Given the description of an element on the screen output the (x, y) to click on. 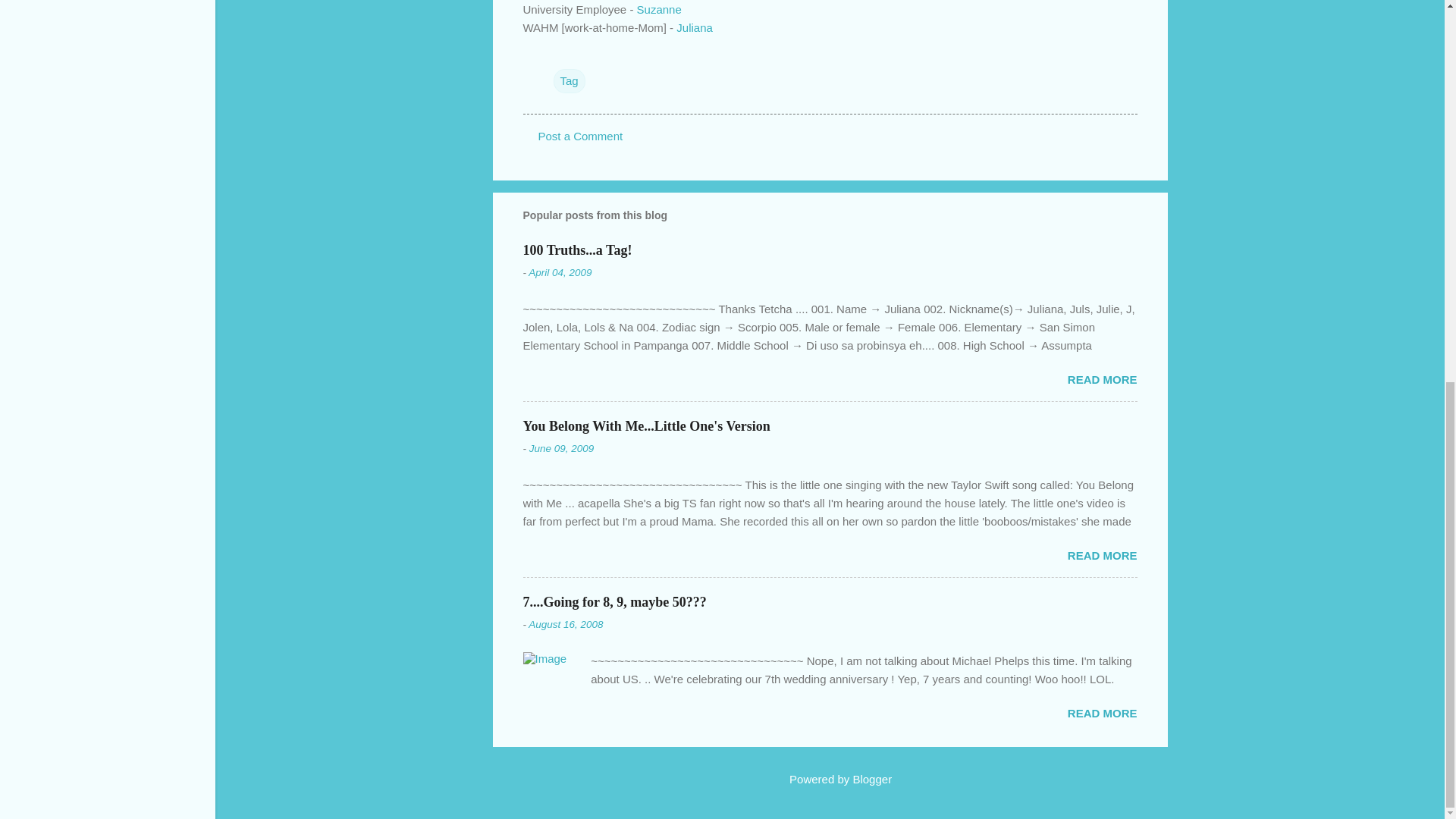
You Belong With Me...Little One's Version (646, 426)
Post a Comment (580, 135)
Suzanne (659, 9)
READ MORE (1102, 554)
100 Truths...a Tag! (576, 249)
7....Going for 8, 9, maybe 50??? (614, 601)
READ MORE (1102, 712)
READ MORE (1102, 379)
Juliana (692, 27)
April 04, 2009 (559, 272)
